Given the description of an element on the screen output the (x, y) to click on. 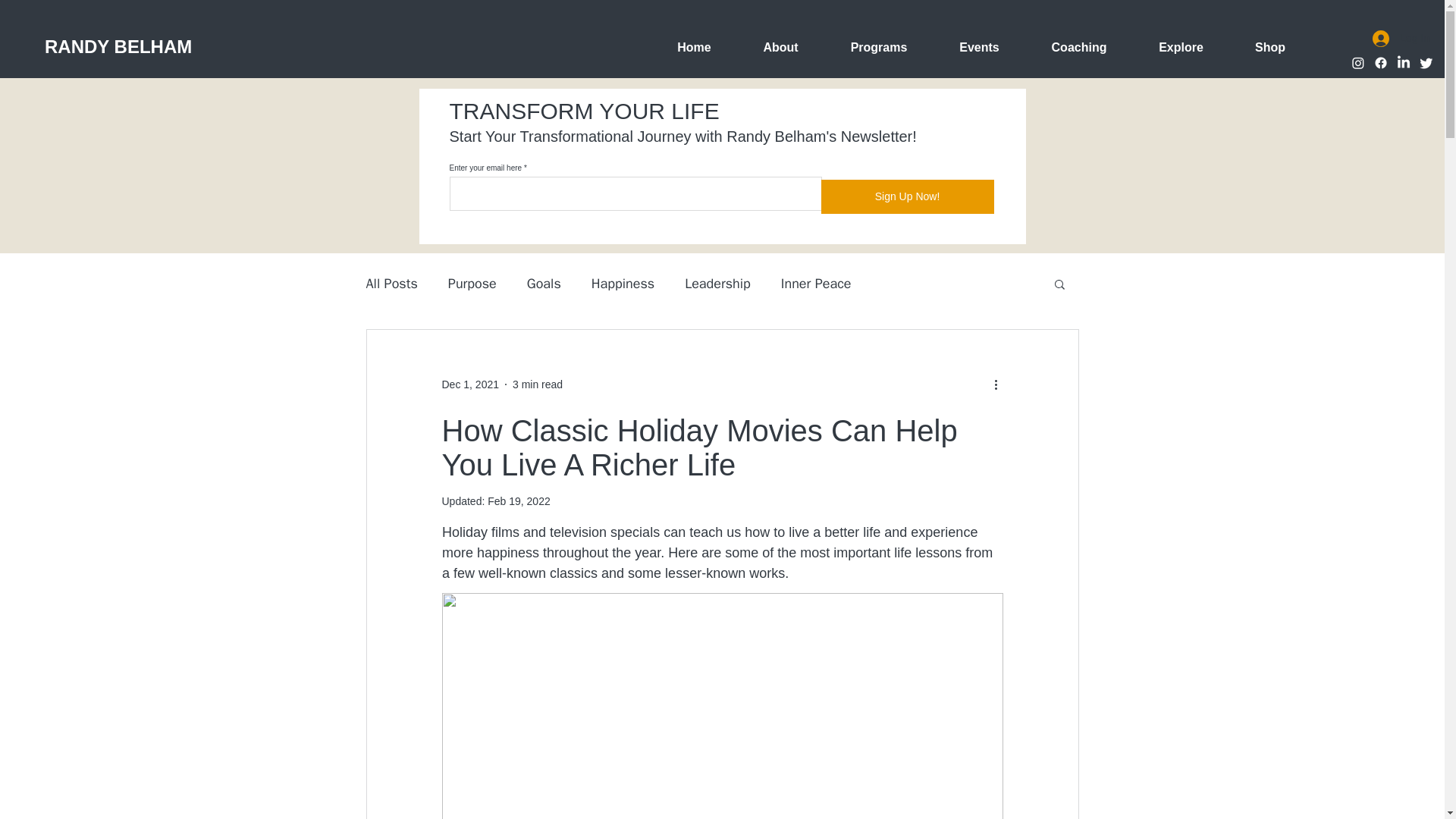
Purpose (472, 283)
Log In (1400, 38)
Happiness (622, 283)
Dec 1, 2021 (470, 384)
All Posts (390, 283)
Goals (543, 283)
Home (693, 47)
3 min read (537, 384)
Leadership (717, 283)
Sign Up Now! (906, 196)
